Given the description of an element on the screen output the (x, y) to click on. 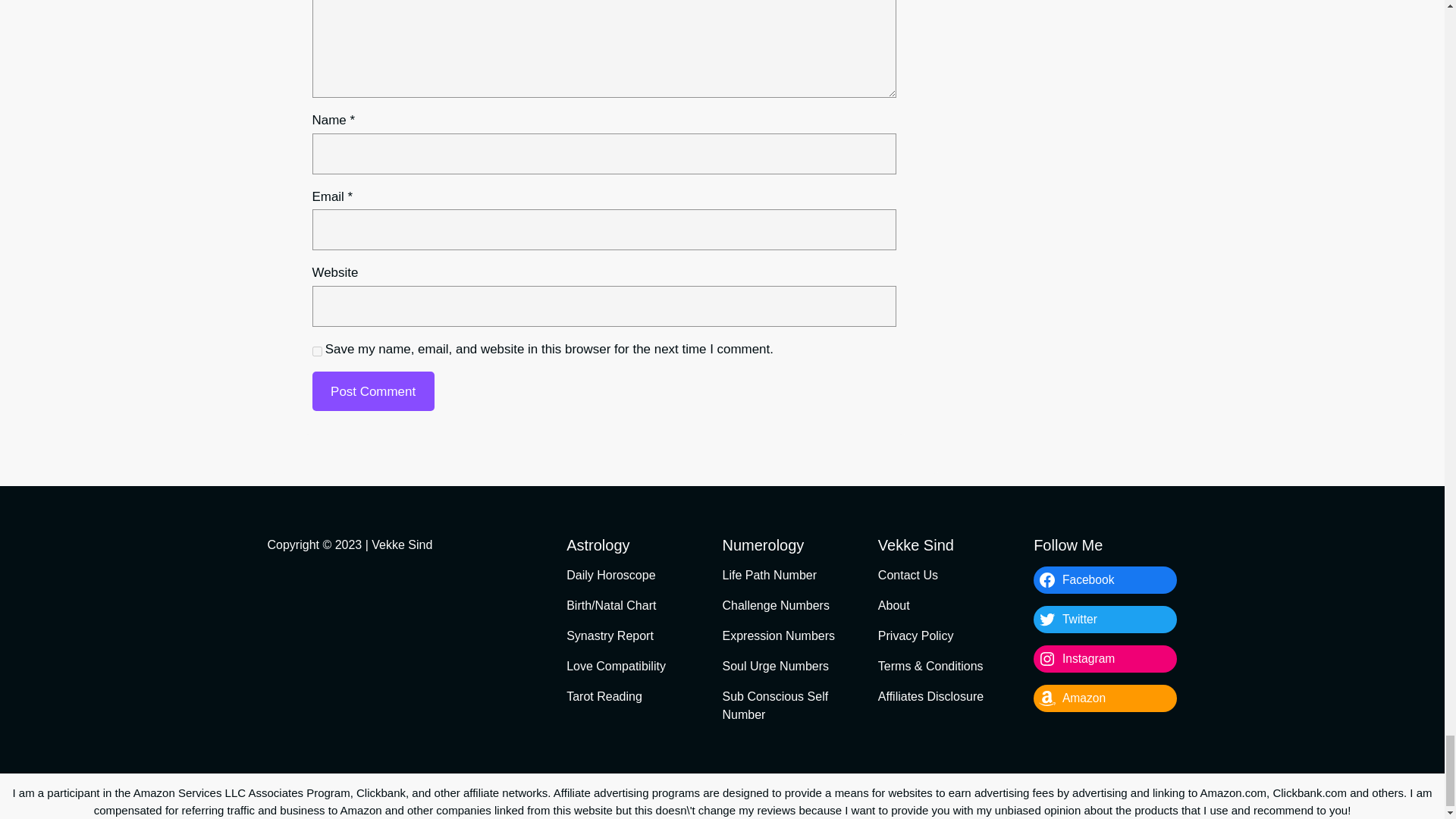
Post Comment (373, 391)
